Given the description of an element on the screen output the (x, y) to click on. 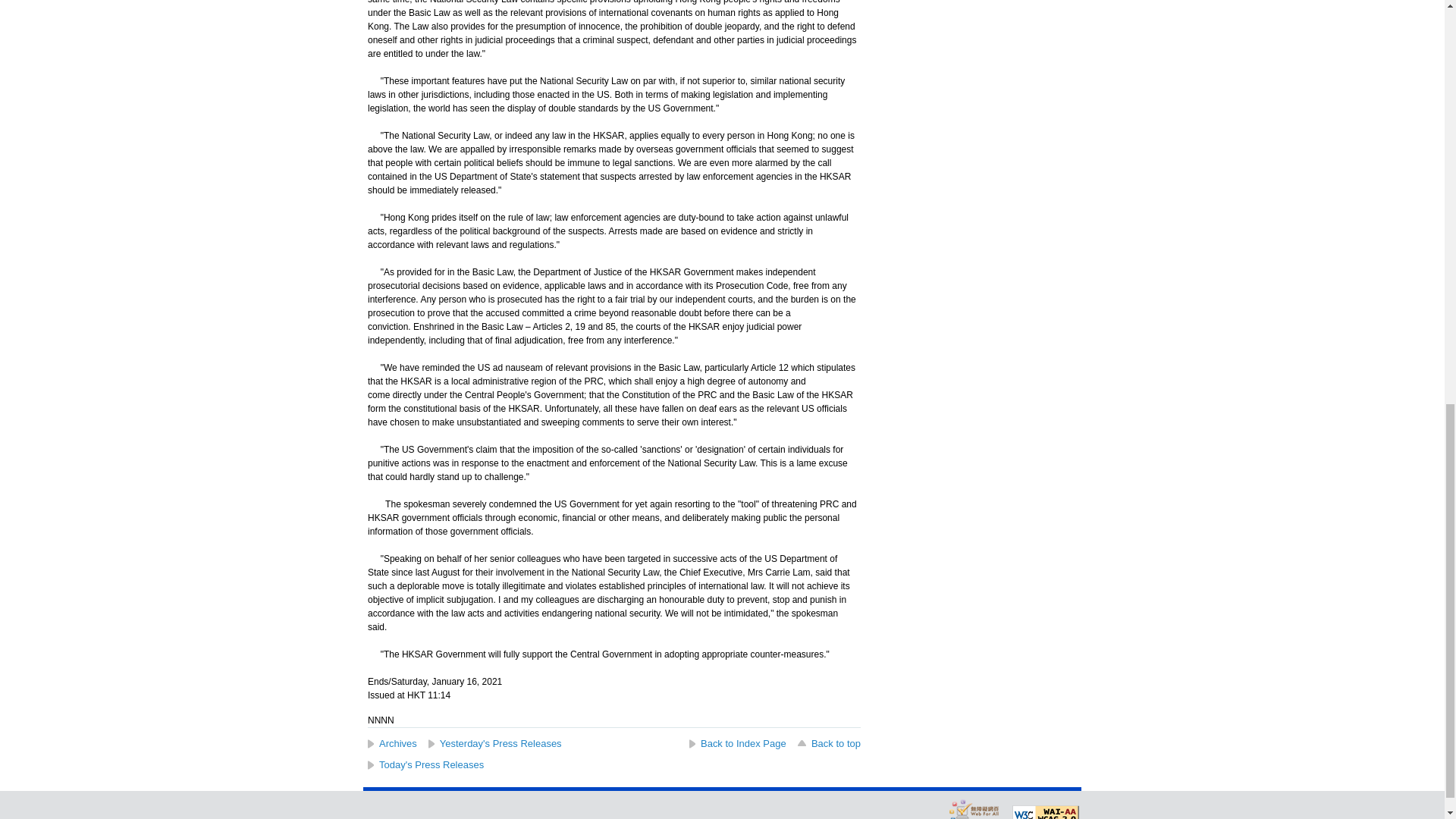
Web Accessibility Recognition Scheme (974, 808)
Back to top (828, 743)
Back to Index Page (737, 743)
Today's Press Releases (425, 764)
Archives (392, 743)
Yesterday's Press Releases (495, 743)
